Given the description of an element on the screen output the (x, y) to click on. 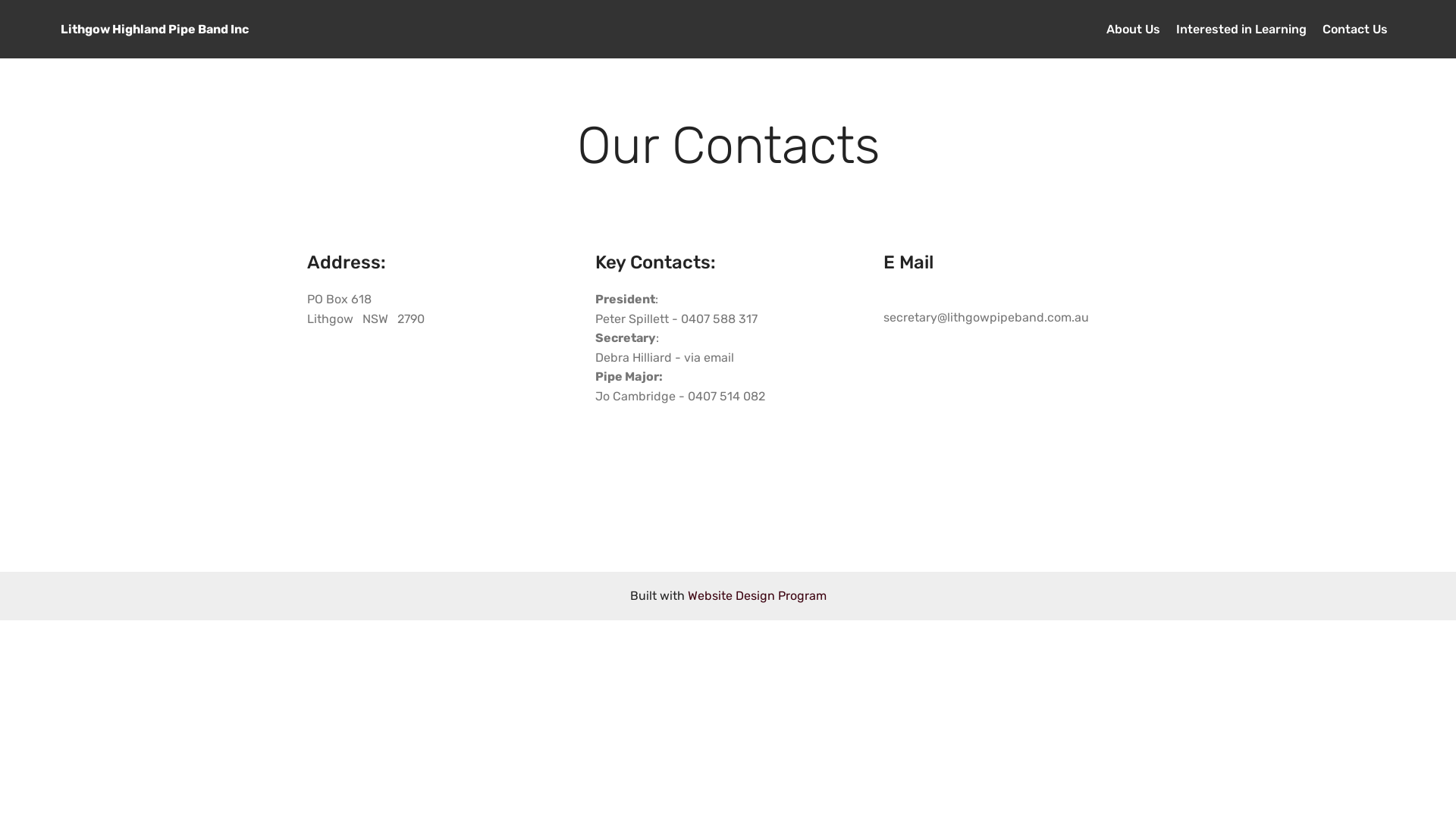
Contact Us Element type: text (1354, 28)
Website Design Program Element type: text (756, 595)
Interested in Learning Element type: text (1241, 28)
Lithgow Highland Pipe Band Inc Element type: text (166, 28)
About Us Element type: text (1133, 28)
